Given the description of an element on the screen output the (x, y) to click on. 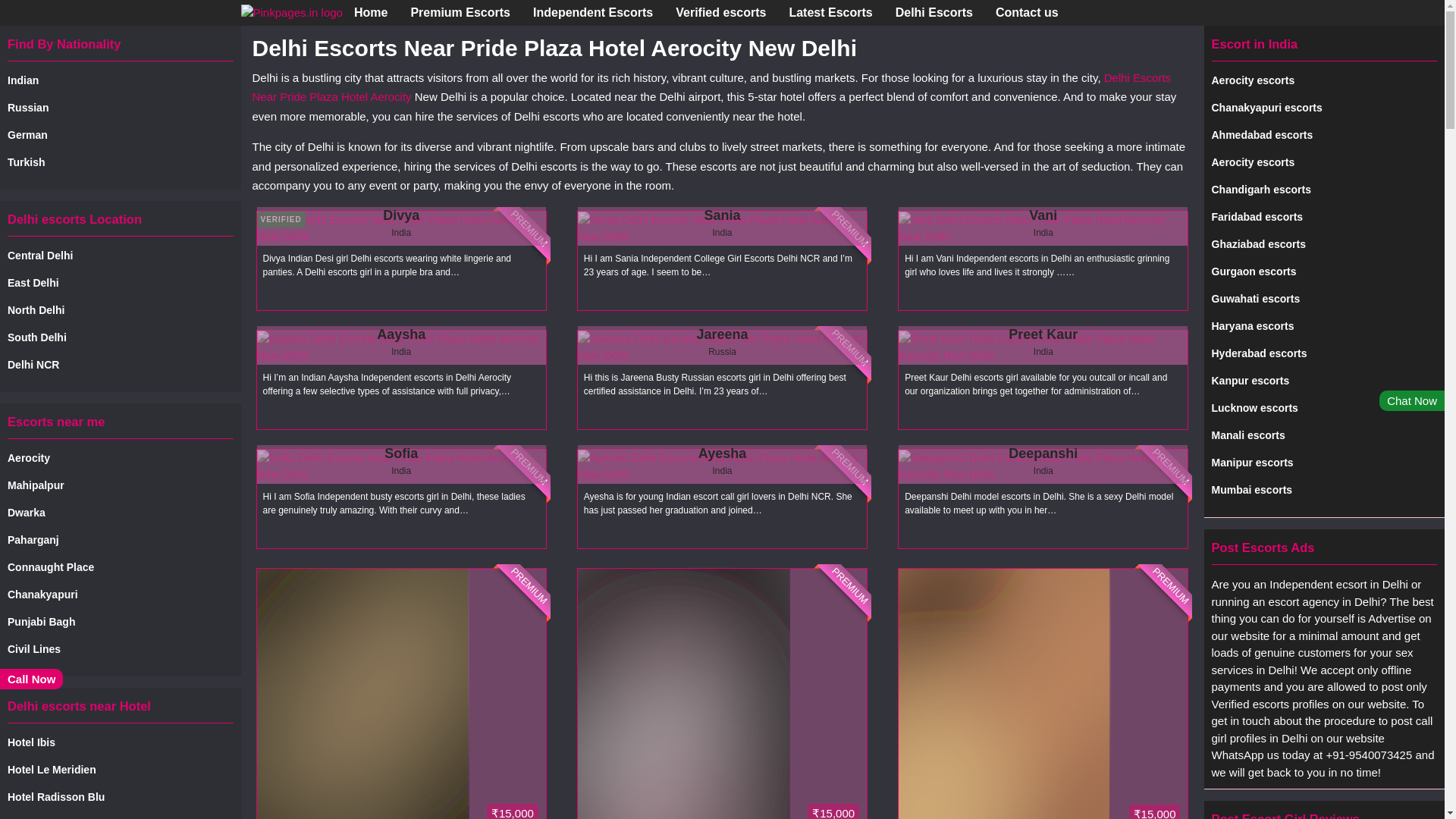
East Delhi (119, 283)
Delhi Escorts from Turkey (119, 162)
Latest Escorts (830, 11)
Central Delhi (119, 255)
Delhi Escorts from Central Delhi (119, 255)
Delhi NCR (119, 365)
Hotel Le Meridien (119, 770)
South Delhi (119, 337)
Aerocity (119, 458)
Verified escorts (720, 11)
Russian (119, 107)
Premium Escorts (460, 11)
Independent Escorts (592, 11)
Contact us (1026, 11)
Hotel Radisson Blu (119, 797)
